Given the description of an element on the screen output the (x, y) to click on. 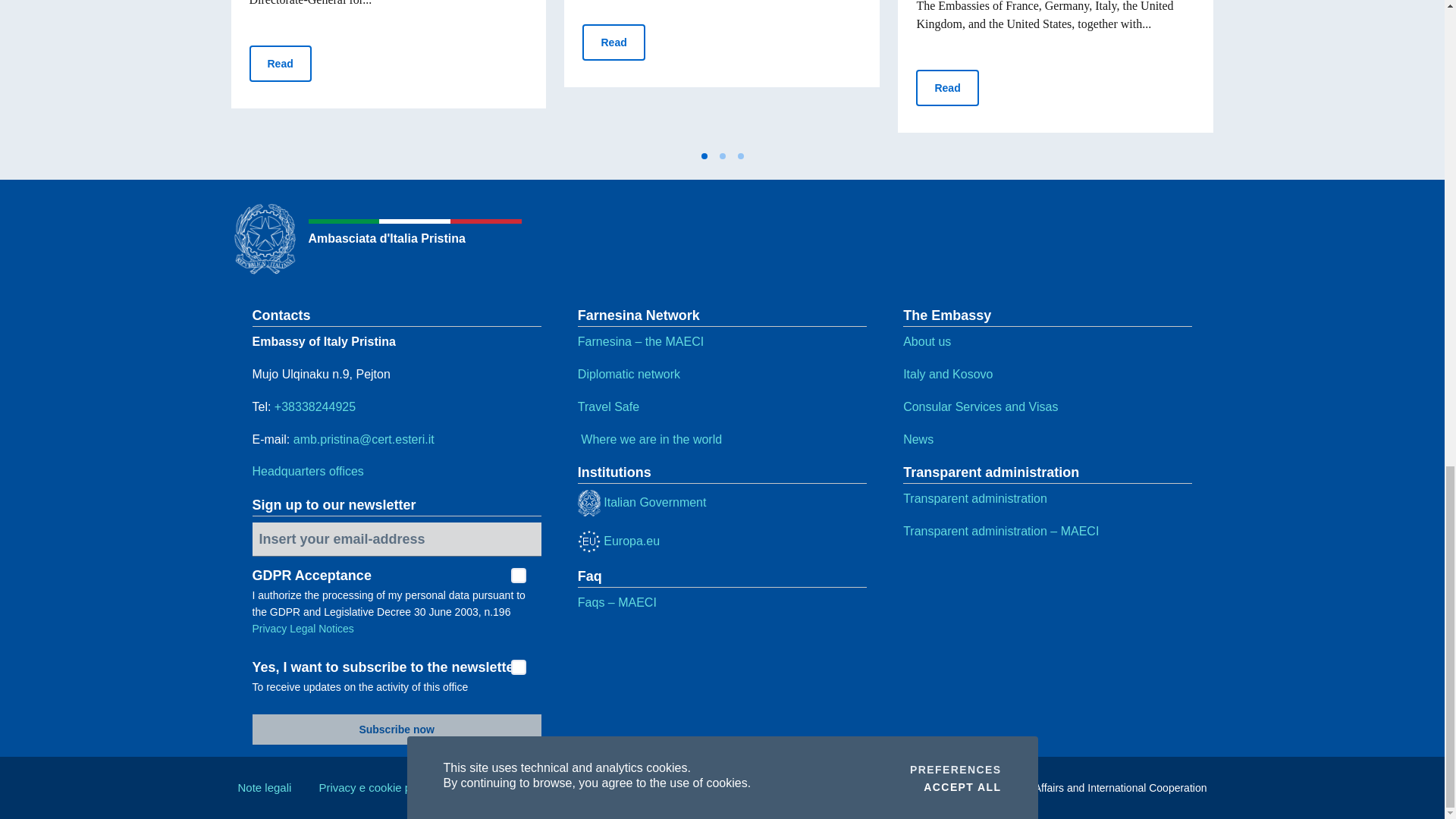
Subscribe now (395, 729)
